Given the description of an element on the screen output the (x, y) to click on. 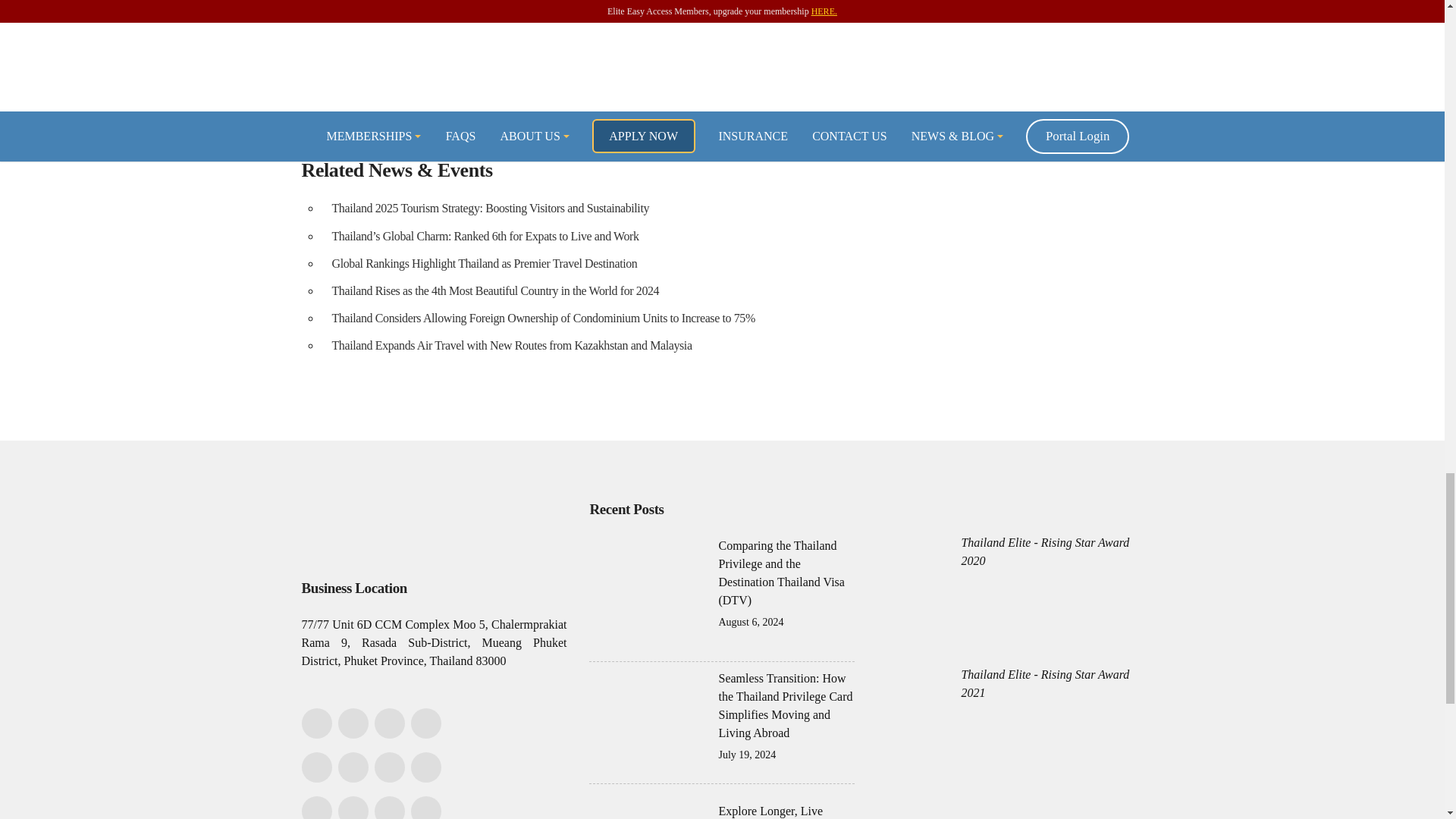
News (839, 83)
WeChat ID: CANEFAITRIEN (389, 723)
BangkokPost (356, 39)
